Given the description of an element on the screen output the (x, y) to click on. 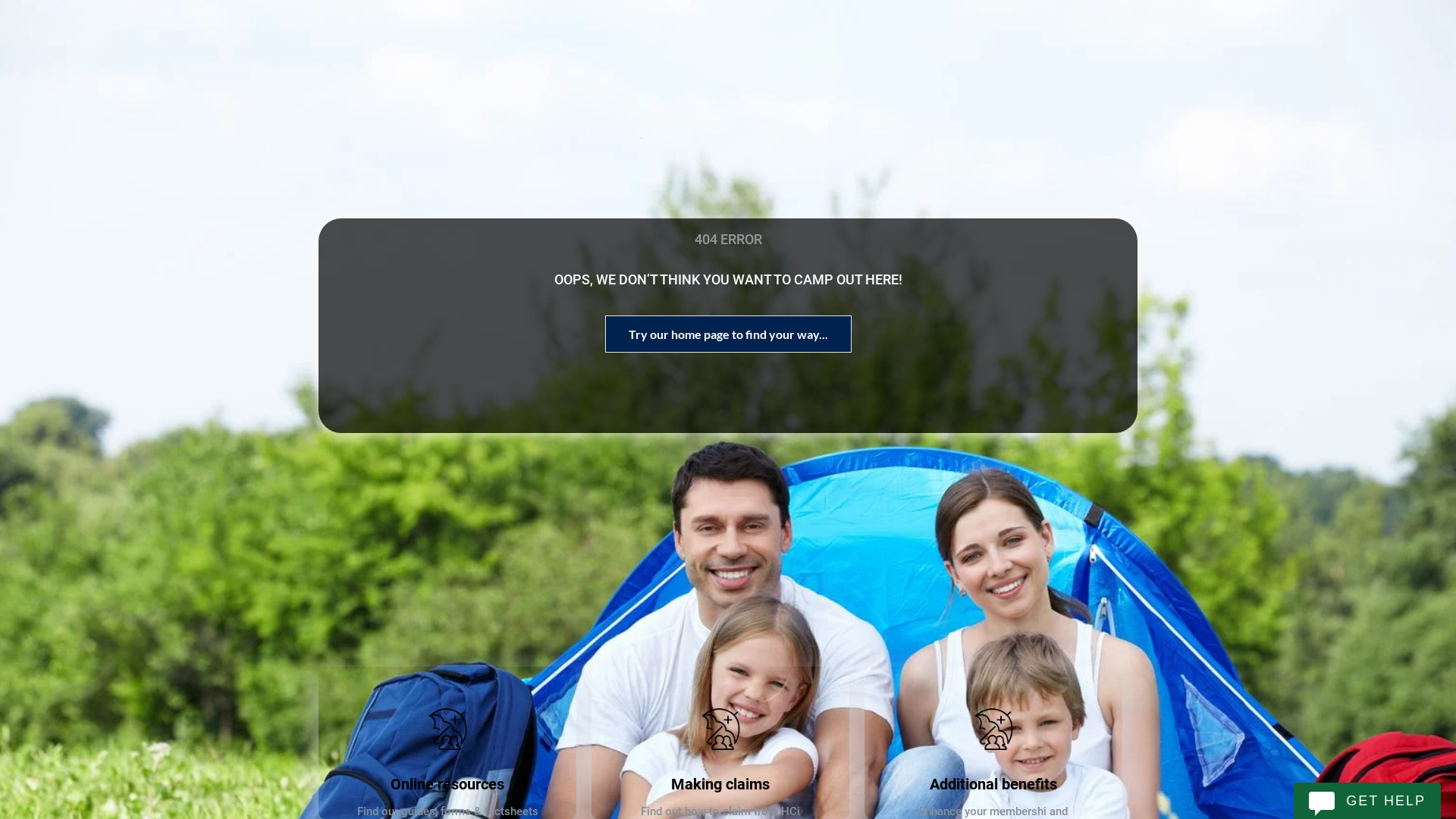
Additional benefits Element type: text (993, 784)
Making claims Element type: text (720, 784)
Try our home page to find your way... Element type: text (728, 333)
Online resources Element type: text (447, 784)
